Given the description of an element on the screen output the (x, y) to click on. 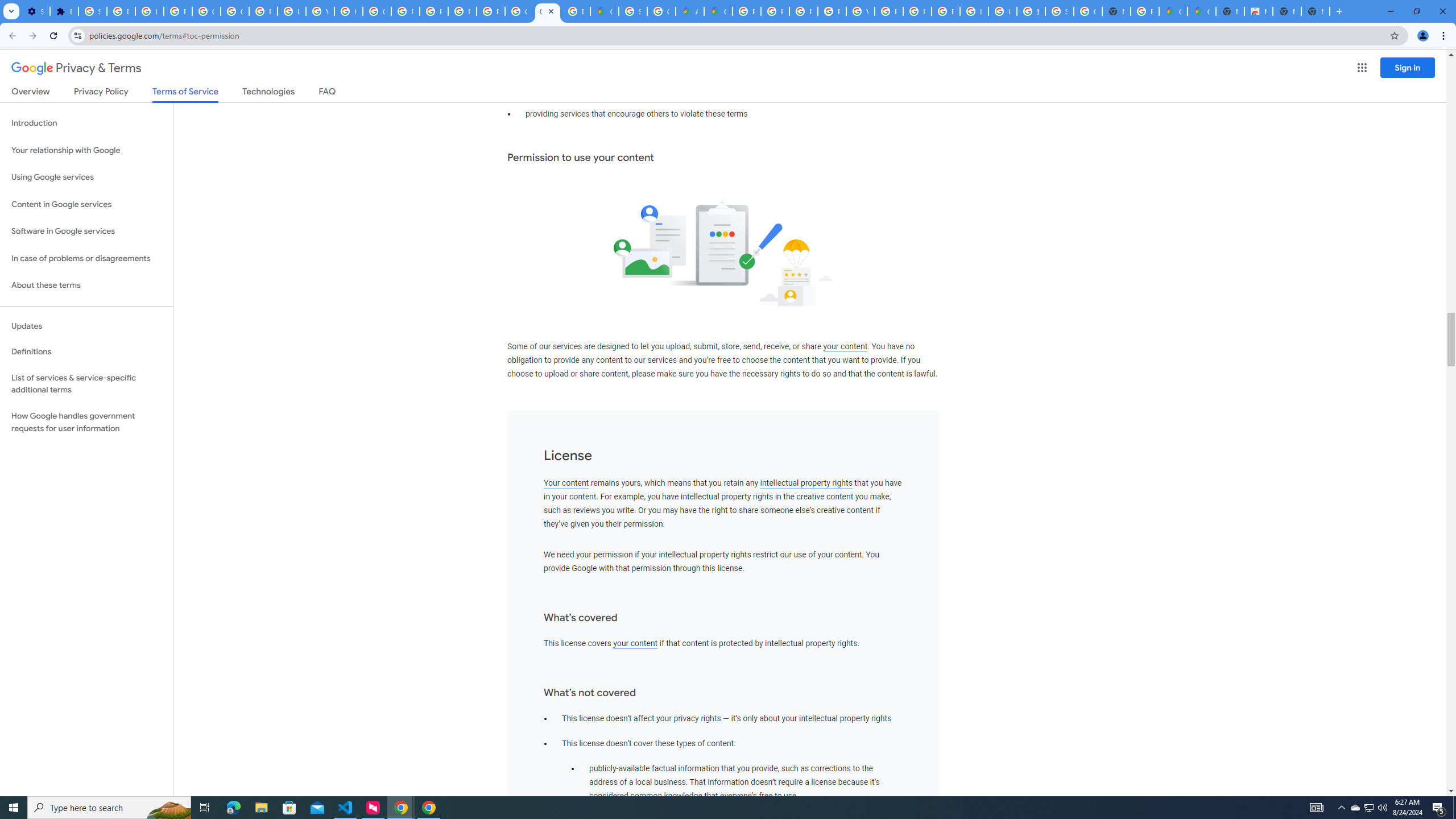
Reload (52, 35)
Google Account Help (234, 11)
Address and search bar (735, 35)
Google Maps (1201, 11)
Delete photos & videos - Computer - Google Photos Help (120, 11)
Chrome (1445, 35)
Back (10, 35)
Updates (86, 325)
Definitions (86, 352)
Privacy Policy (100, 93)
